Given the description of an element on the screen output the (x, y) to click on. 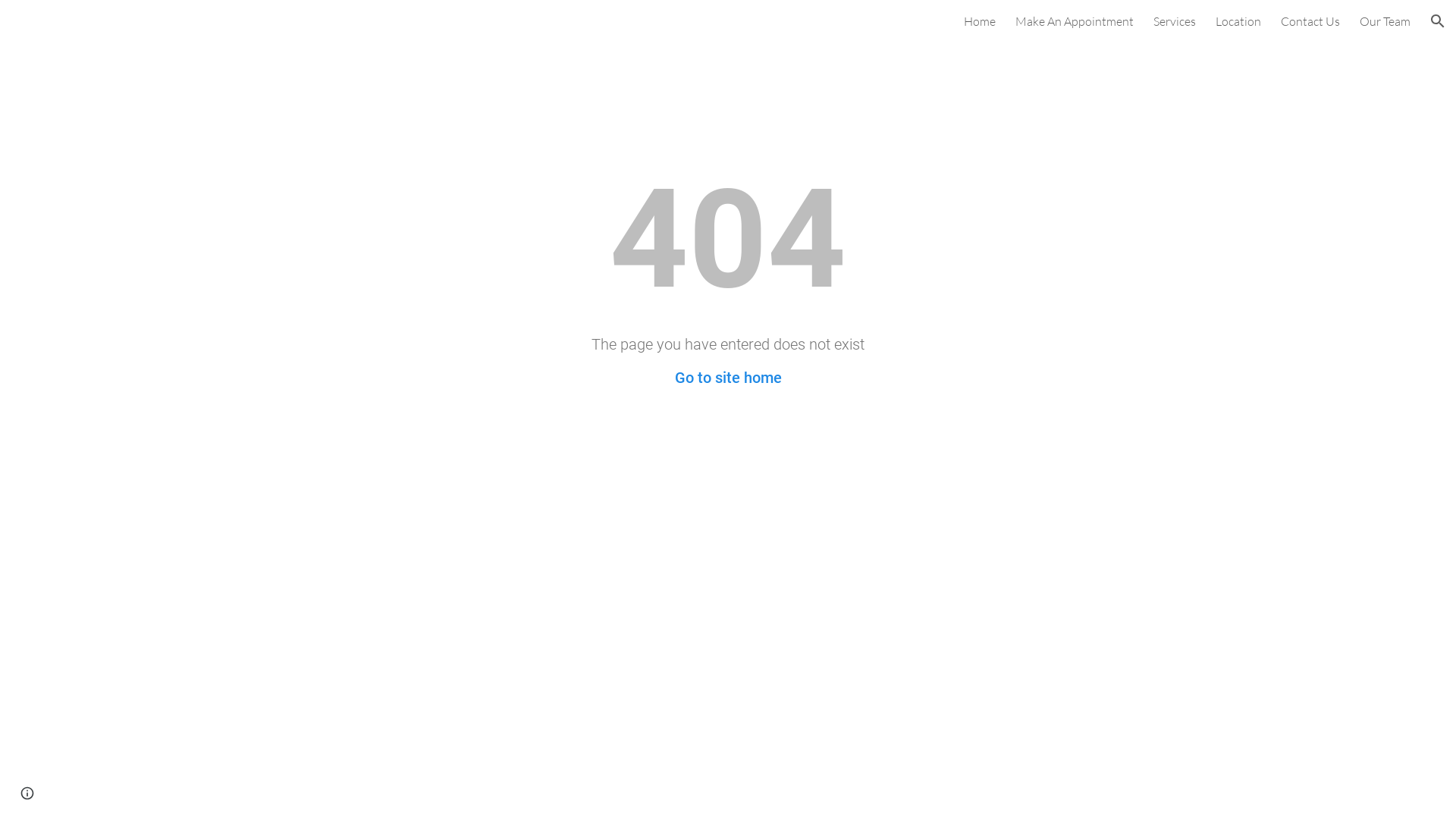
Our Team Element type: text (1384, 20)
Location Element type: text (1238, 20)
Go to site home Element type: text (727, 377)
Make An Appointment Element type: text (1074, 20)
Contact Us Element type: text (1309, 20)
Services Element type: text (1174, 20)
Home Element type: text (979, 20)
